Given the description of an element on the screen output the (x, y) to click on. 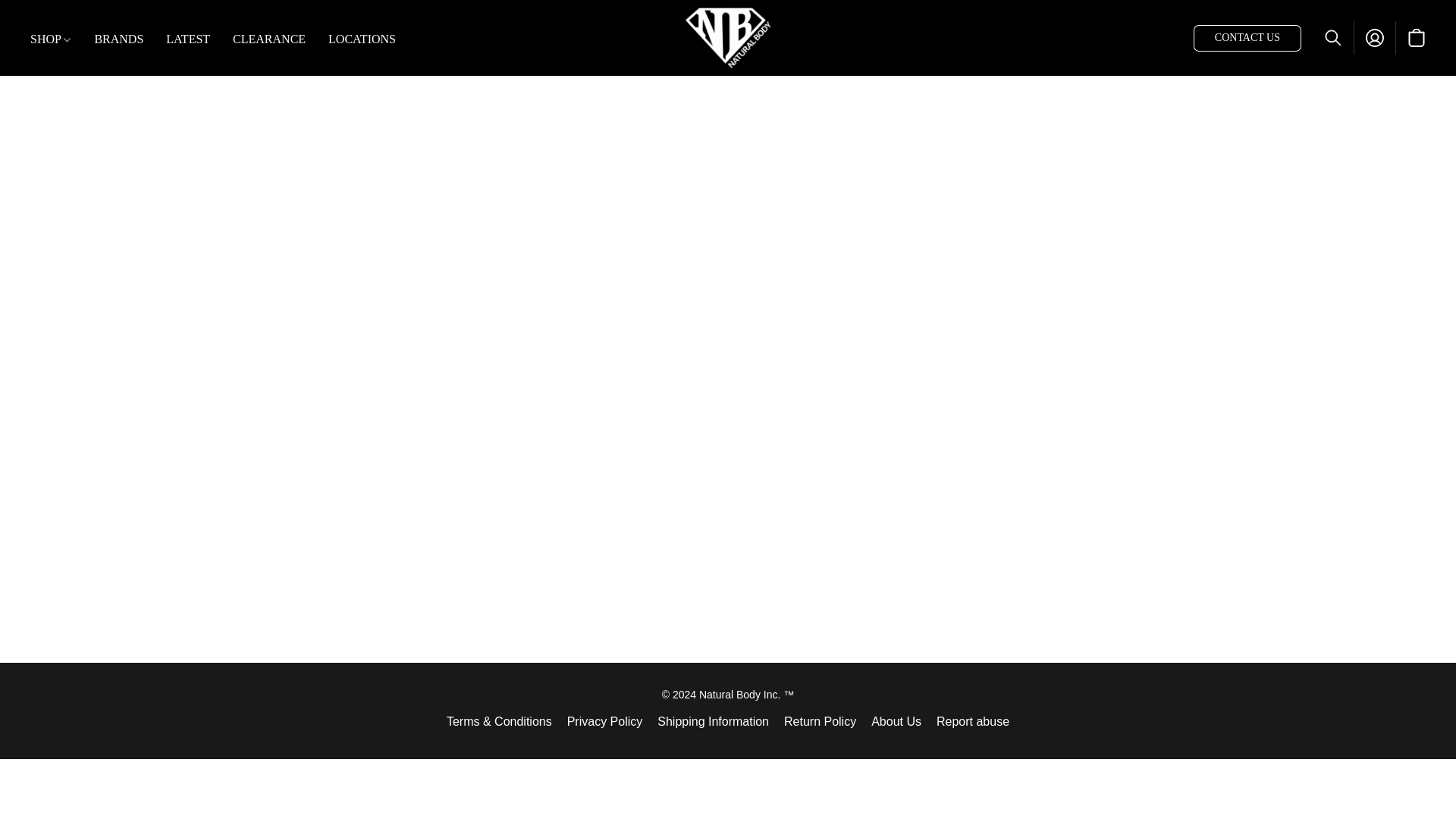
Shipping Information (713, 721)
About Us (895, 721)
Search the website (1333, 37)
Report abuse (972, 721)
CLEARANCE (269, 39)
SHOP (56, 39)
Return Policy (820, 721)
Privacy Policy (605, 721)
CONTACT US (1247, 37)
LOCATIONS (356, 39)
Go to your shopping cart (1416, 37)
LATEST (187, 39)
BRANDS (118, 39)
